Given the description of an element on the screen output the (x, y) to click on. 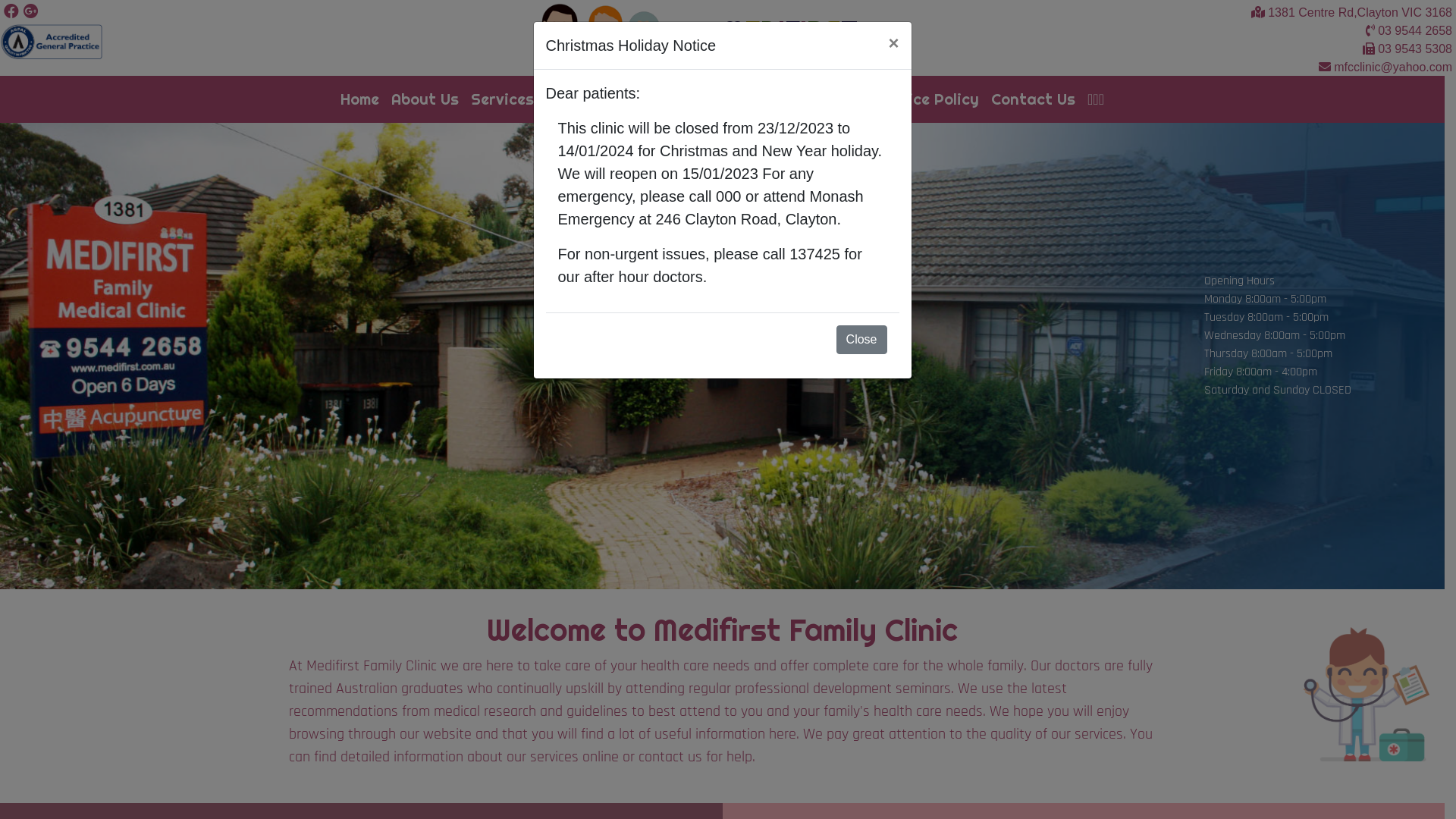
Employment Element type: text (809, 98)
Close Element type: text (861, 339)
Consultation Fee Element type: text (691, 98)
03 9543 5308 Element type: text (1414, 48)
Our Team Element type: text (580, 98)
Practice Policy Element type: text (922, 98)
Previous Element type: text (108, 355)
Next Element type: text (1335, 355)
Services Element type: text (501, 98)
mfcclinic@yahoo.com Element type: text (1392, 66)
03 9544 2658 Element type: text (1414, 30)
Contact Us Element type: text (1033, 98)
Home Element type: text (359, 98)
About Us Element type: text (424, 98)
